Given the description of an element on the screen output the (x, y) to click on. 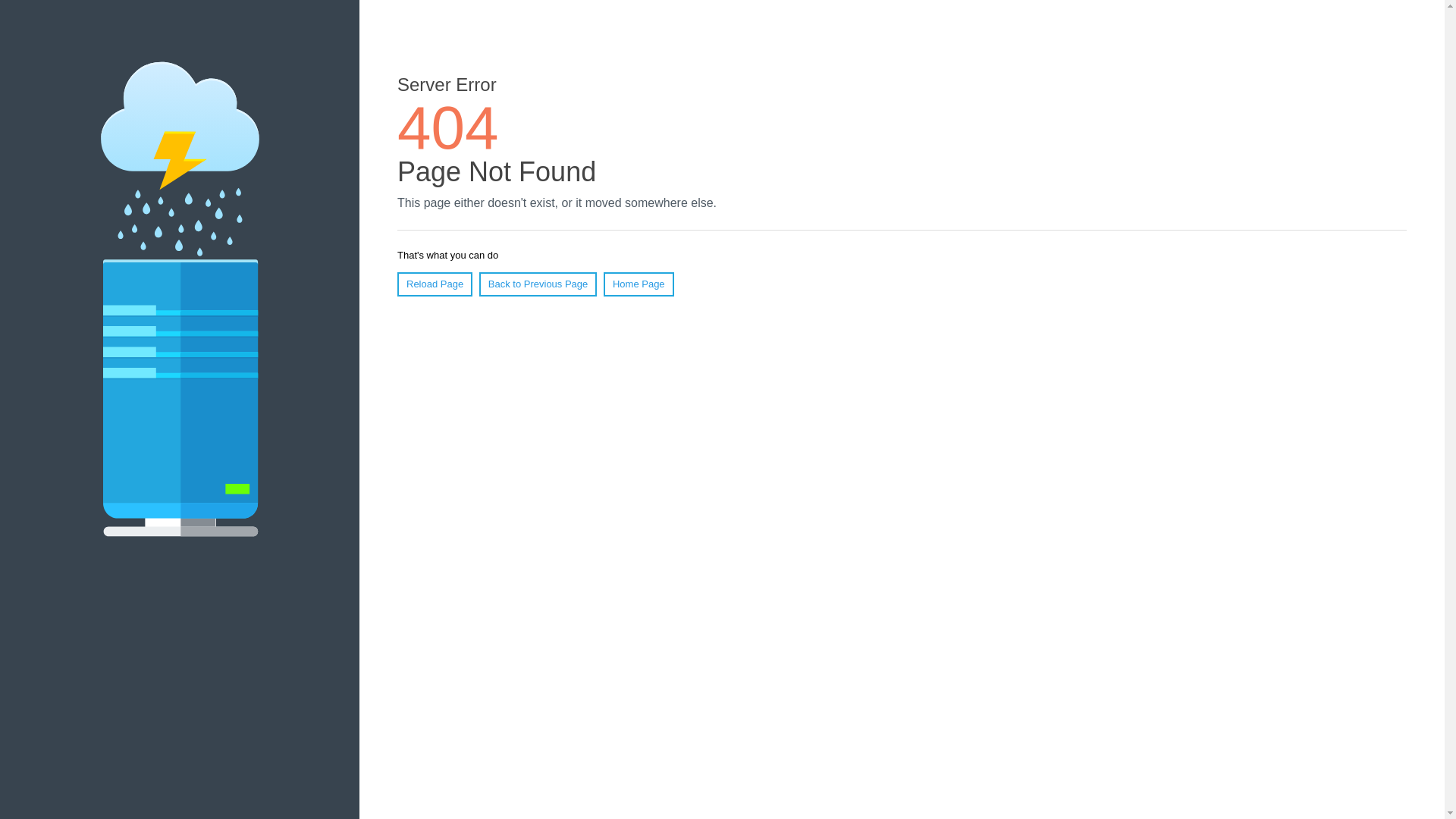
Home Page Element type: text (638, 284)
Back to Previous Page Element type: text (538, 284)
Reload Page Element type: text (434, 284)
